Given the description of an element on the screen output the (x, y) to click on. 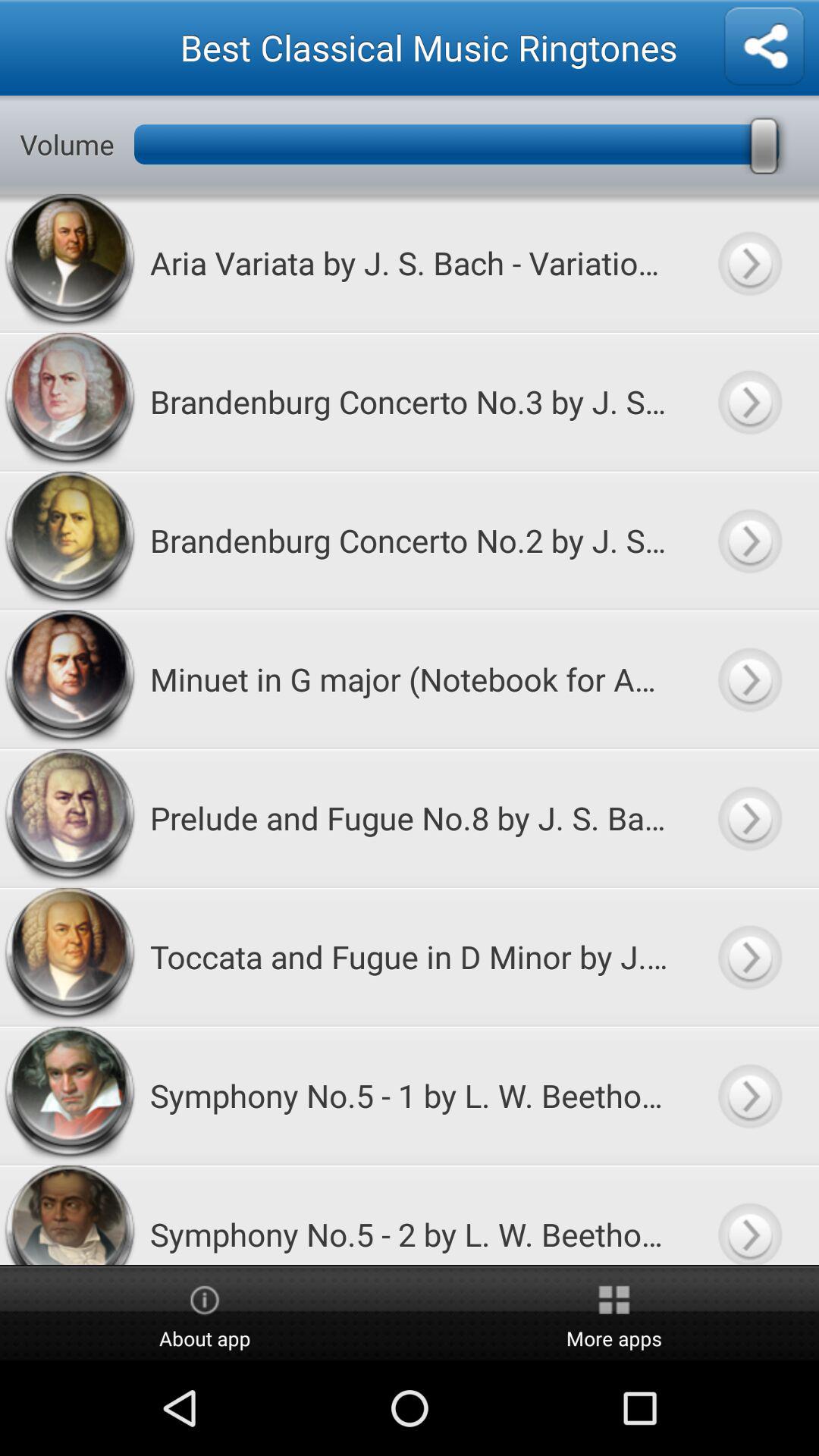
play the ringtone (749, 262)
